Given the description of an element on the screen output the (x, y) to click on. 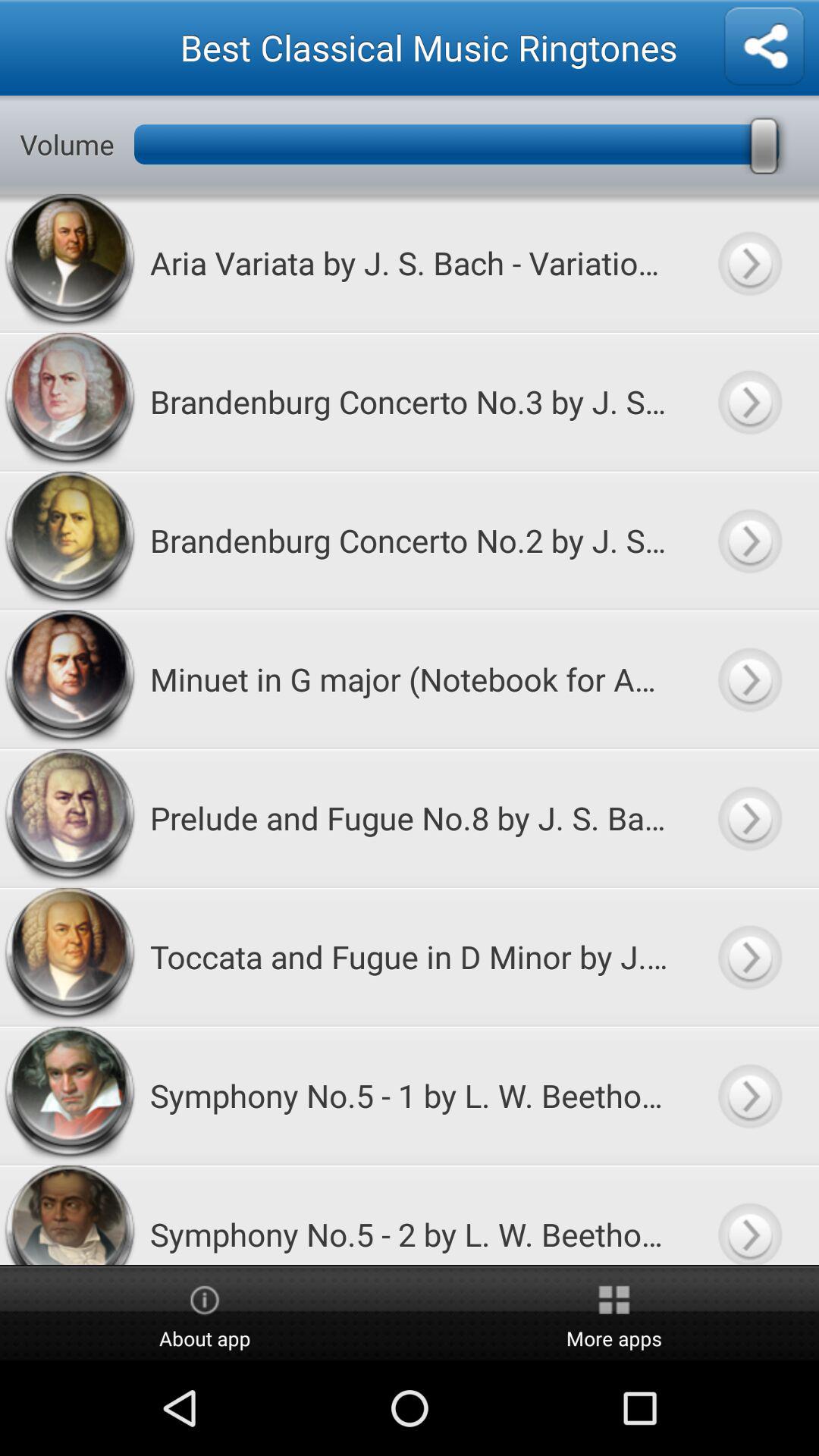
play the ringtone (749, 262)
